Given the description of an element on the screen output the (x, y) to click on. 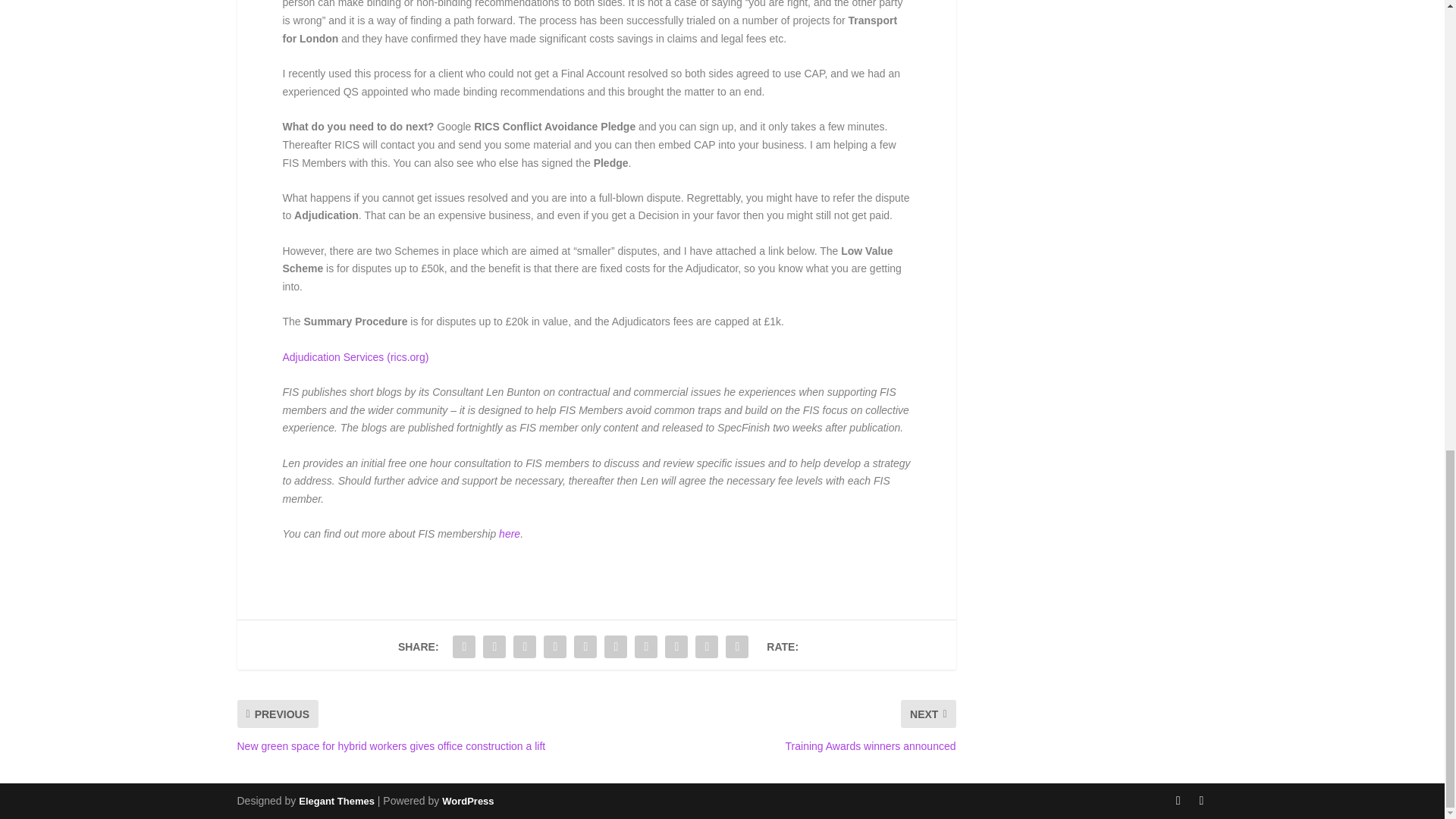
here (509, 533)
